Given the description of an element on the screen output the (x, y) to click on. 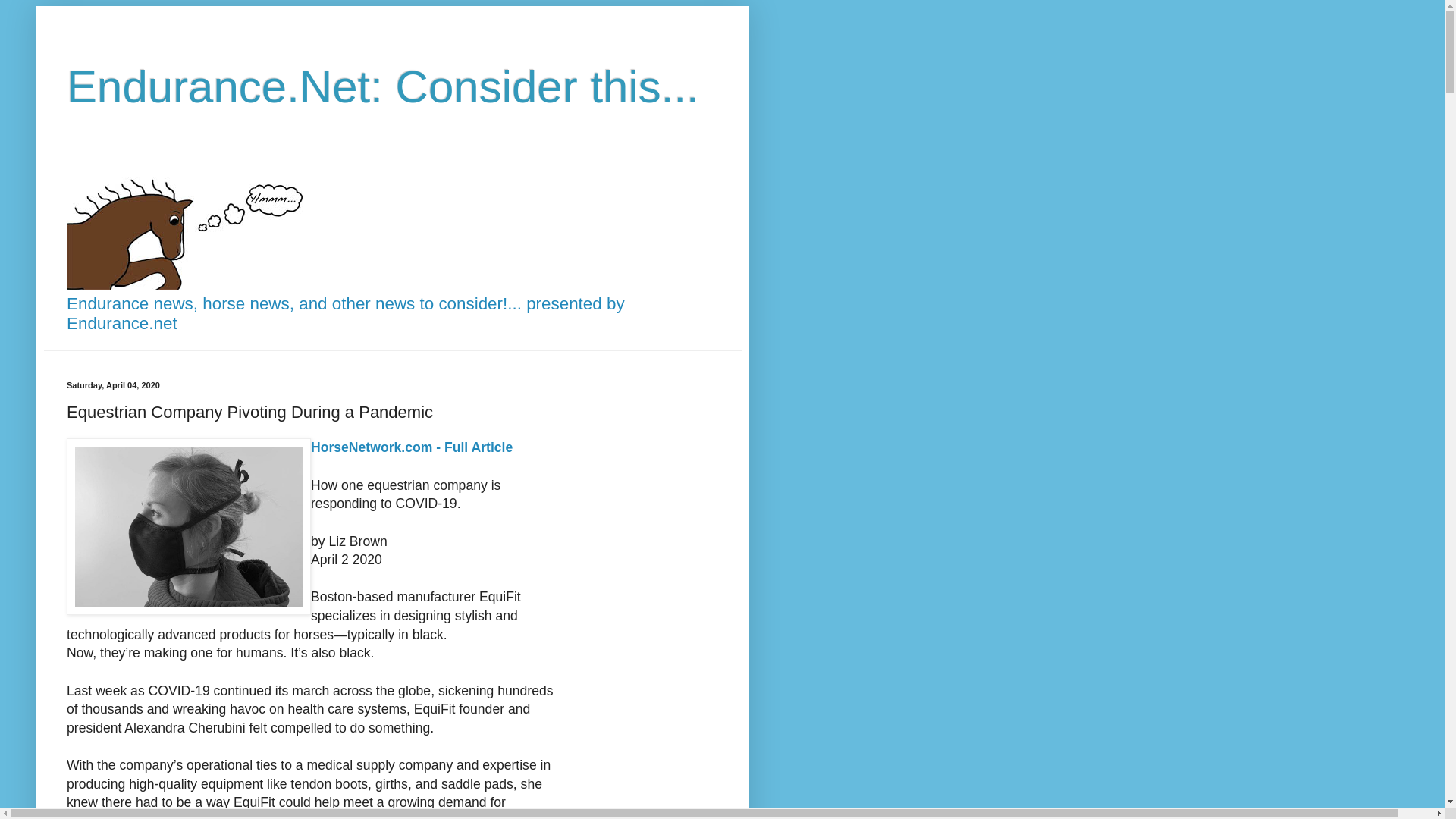
HorseNetwork.com - Full Article (411, 447)
Endurance.Net: Consider this... (382, 86)
